Given the description of an element on the screen output the (x, y) to click on. 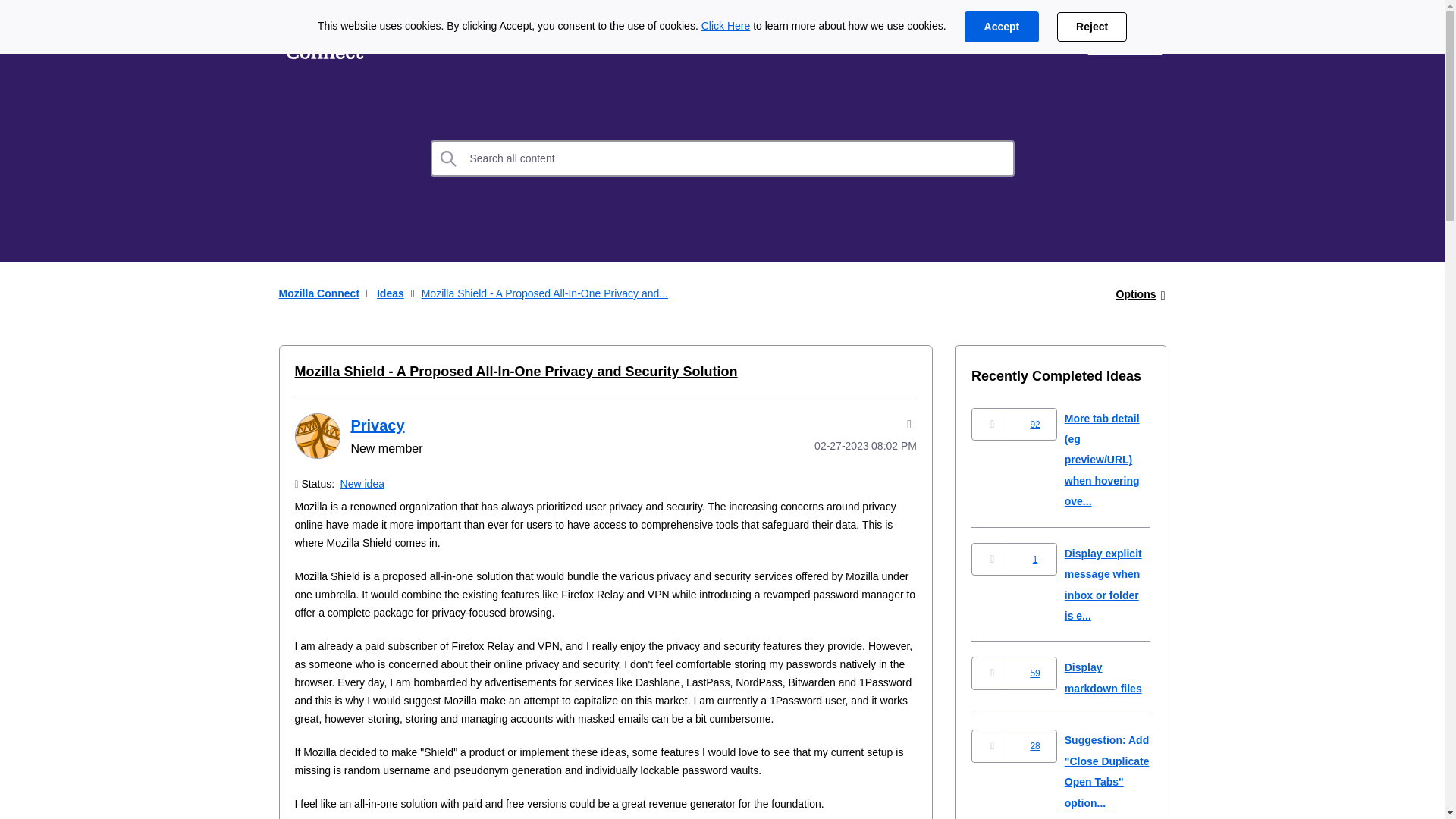
Privacy (316, 435)
Sign In (1124, 39)
Ideas (390, 293)
Search (448, 158)
Community (607, 39)
Click Here (726, 25)
Search (722, 158)
Options (1136, 294)
Mozilla Connect (319, 293)
